Given the description of an element on the screen output the (x, y) to click on. 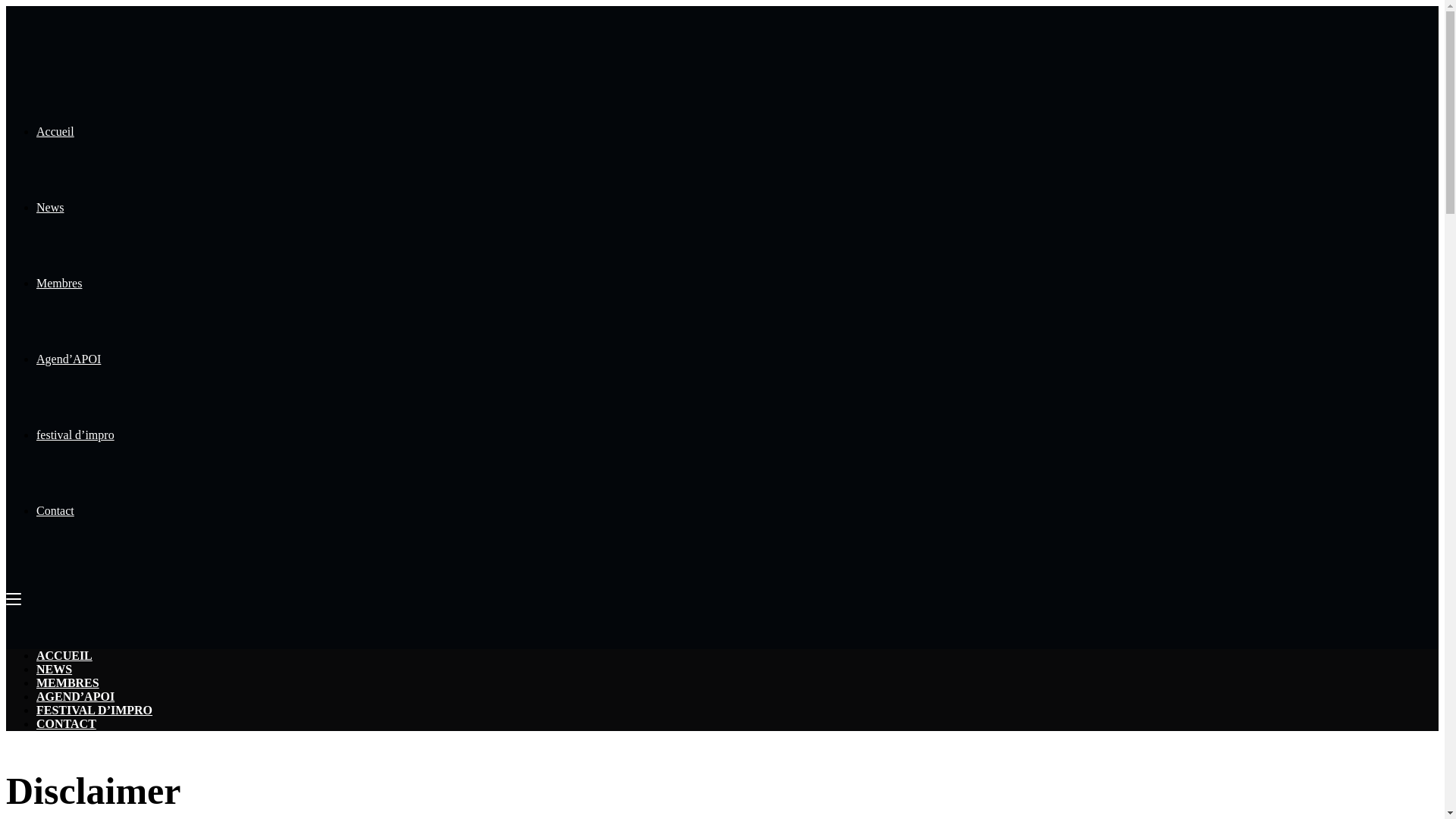
Accueil Element type: text (55, 131)
ACCUEIL Element type: text (64, 655)
Membres Element type: text (58, 282)
NEWS Element type: text (54, 668)
News Element type: text (49, 206)
CONTACT Element type: text (66, 723)
Contact Element type: text (55, 510)
Skip to content Element type: text (5, 5)
MEMBRES Element type: text (67, 682)
